Given the description of an element on the screen output the (x, y) to click on. 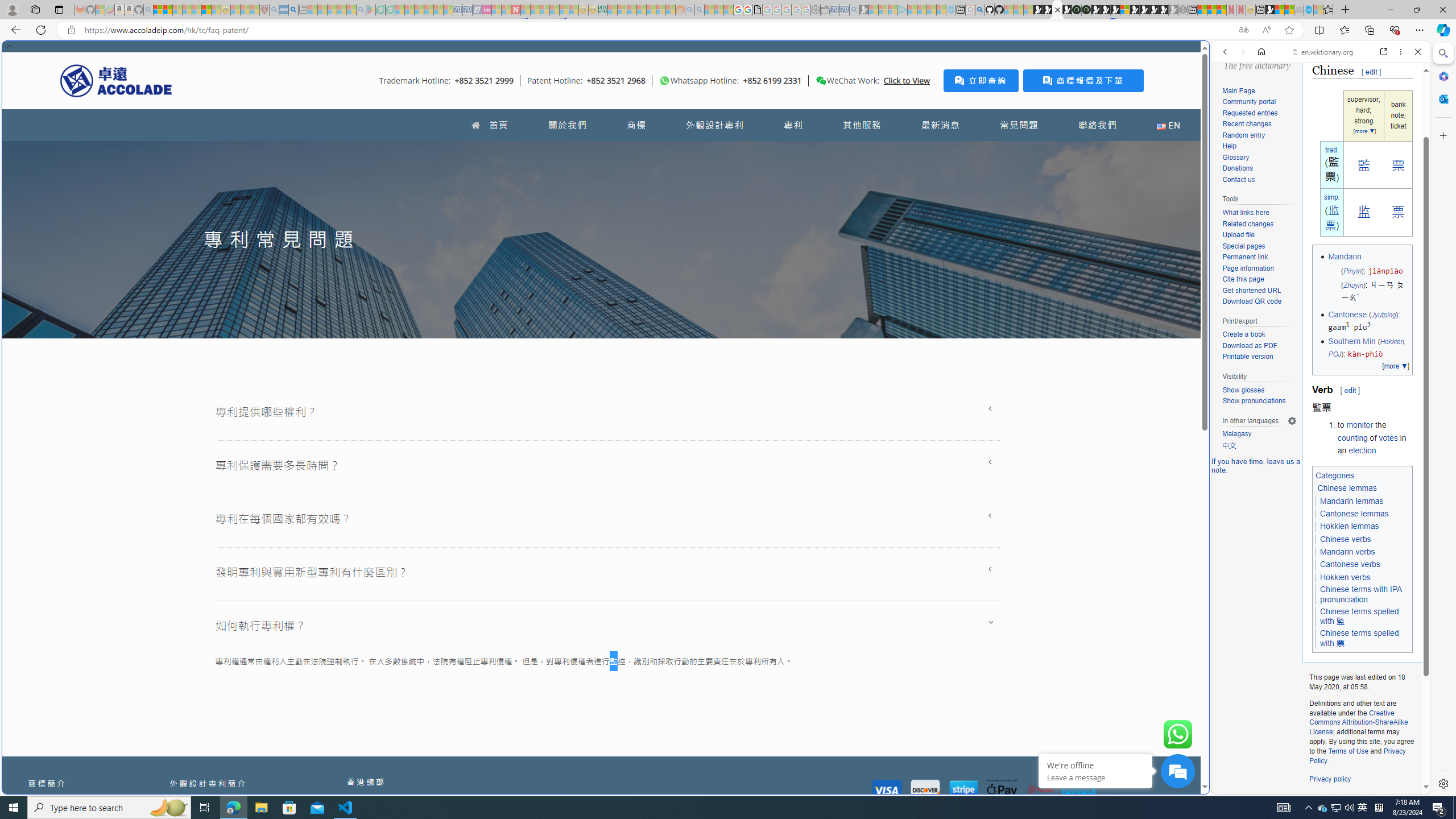
Chinese terms with IPA pronunciation (1361, 594)
Local - MSN - Sleeping (254, 9)
EN (1168, 124)
Services - Maintenance | Sky Blue Bikes - Sky Blue Bikes (1307, 9)
Malagasy (1259, 434)
